Given the description of an element on the screen output the (x, y) to click on. 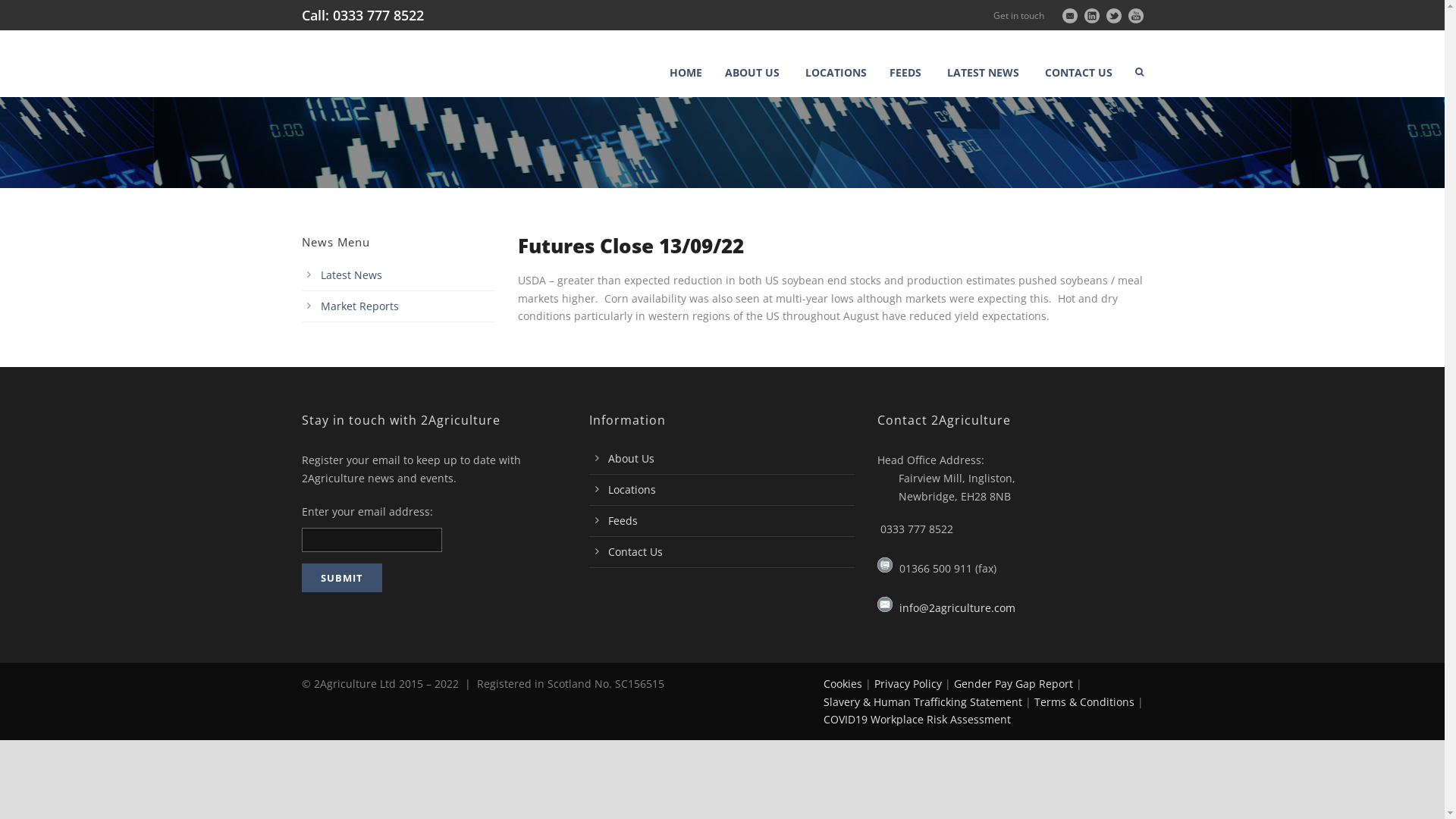
COVID19 Workplace Risk Assessment Element type: text (916, 719)
ABOUT US Element type: text (752, 72)
FEEDS Element type: text (906, 72)
Terms & Conditions Element type: text (1084, 701)
Cookies Element type: text (842, 683)
LOCATIONS Element type: text (835, 72)
Submit Element type: text (341, 577)
Privacy Policy Element type: text (907, 683)
Latest News Element type: text (350, 273)
Market Reports Element type: text (359, 305)
HOME Element type: text (690, 72)
Gender Pay Gap Report Element type: text (1013, 683)
Slavery & Human Trafficking Statement Element type: text (922, 701)
About Us Element type: text (631, 458)
Contact Us Element type: text (635, 551)
Subscribe Element type: text (350, 617)
info@2agriculture.com Element type: text (957, 607)
Locations Element type: text (631, 489)
CONTACT US Element type: text (1077, 72)
Feeds Element type: text (622, 520)
LATEST NEWS Element type: text (984, 72)
